Given the description of an element on the screen output the (x, y) to click on. 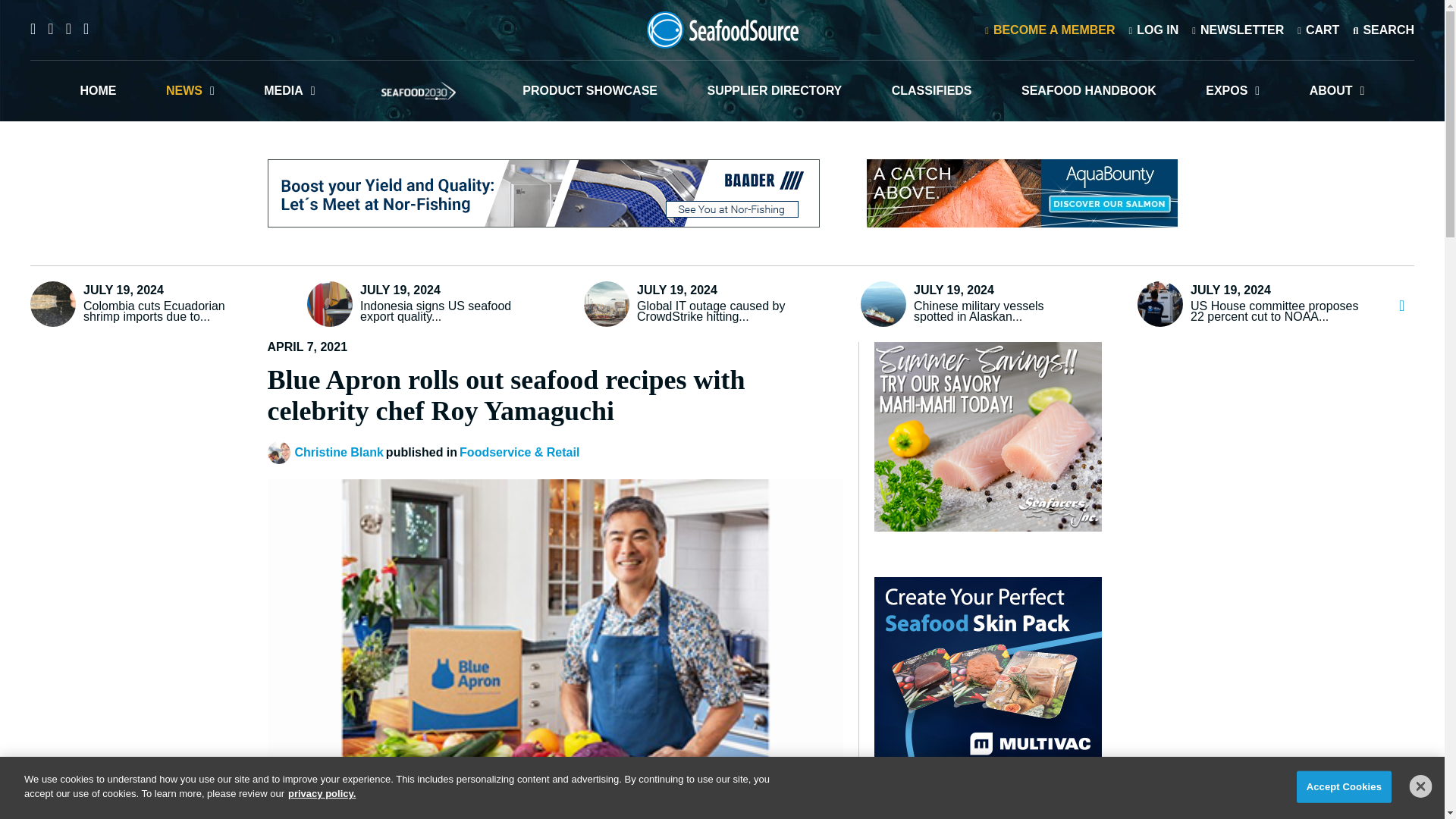
LOG IN (1152, 29)
NEWSLETTER (1238, 29)
CART (1318, 29)
SEARCH (1382, 29)
SEAFOOD2030 (419, 90)
Subscribe to our newsletter (1238, 29)
Your cart (1318, 29)
PRODUCT SHOWCASE (590, 90)
SeafoodSource (721, 29)
Search SearfoodSource (1382, 29)
SUPPLIER DIRECTORY (773, 90)
Log in (1152, 29)
BECOME A MEMBER (1050, 29)
